Given the description of an element on the screen output the (x, y) to click on. 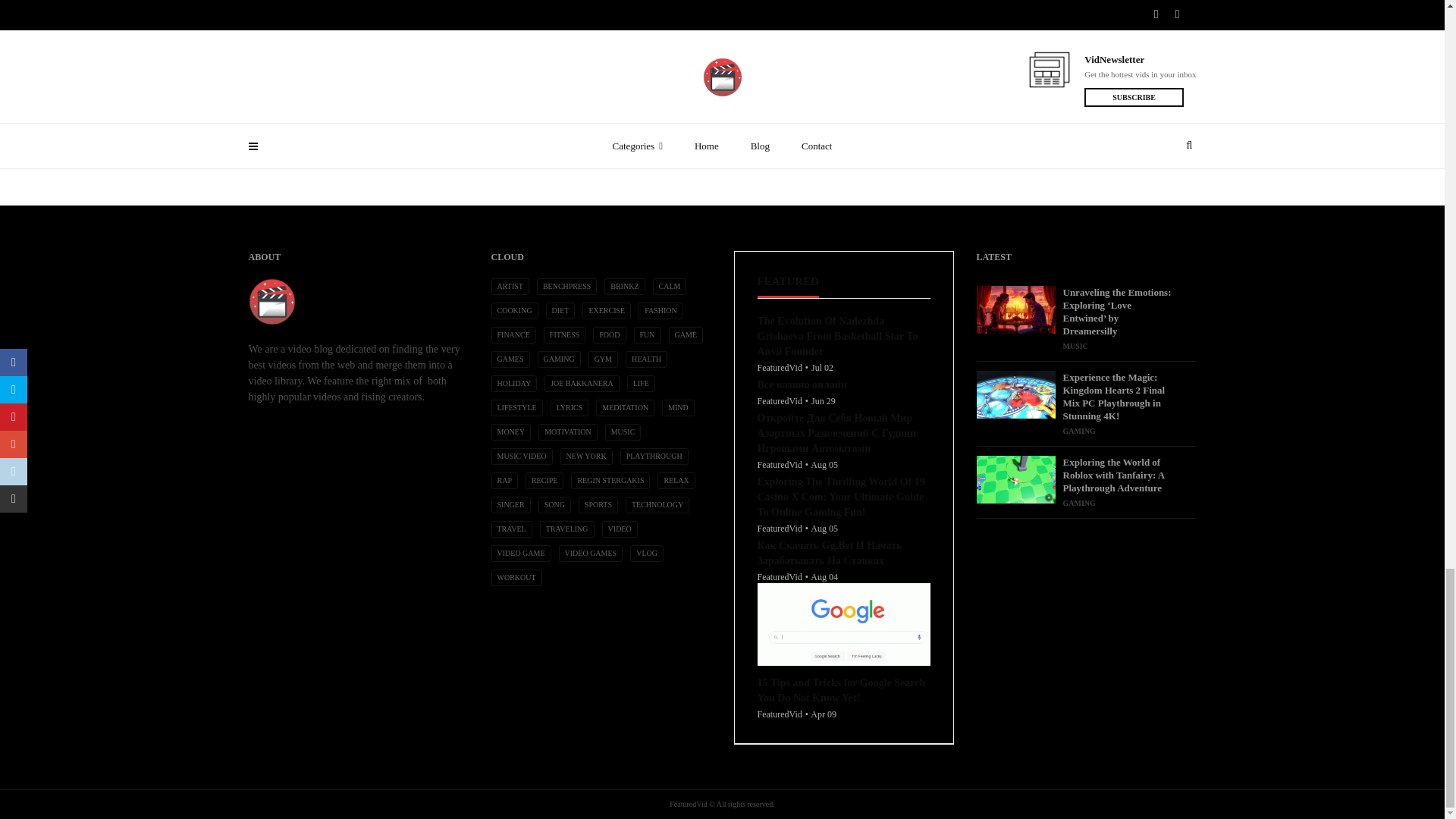
Post Comment (471, 130)
